Given the description of an element on the screen output the (x, y) to click on. 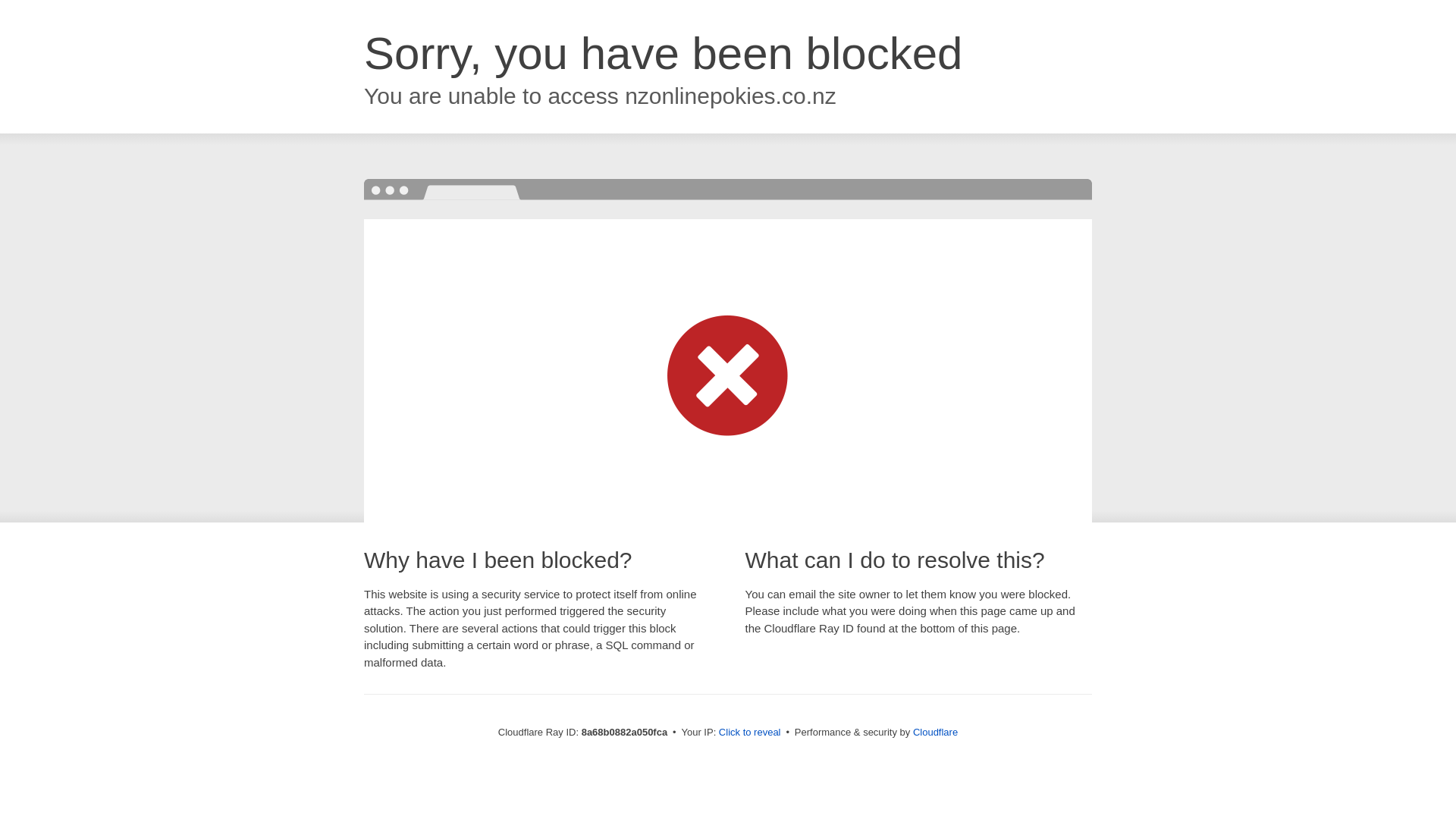
Click to reveal (749, 732)
Cloudflare (935, 731)
